Given the description of an element on the screen output the (x, y) to click on. 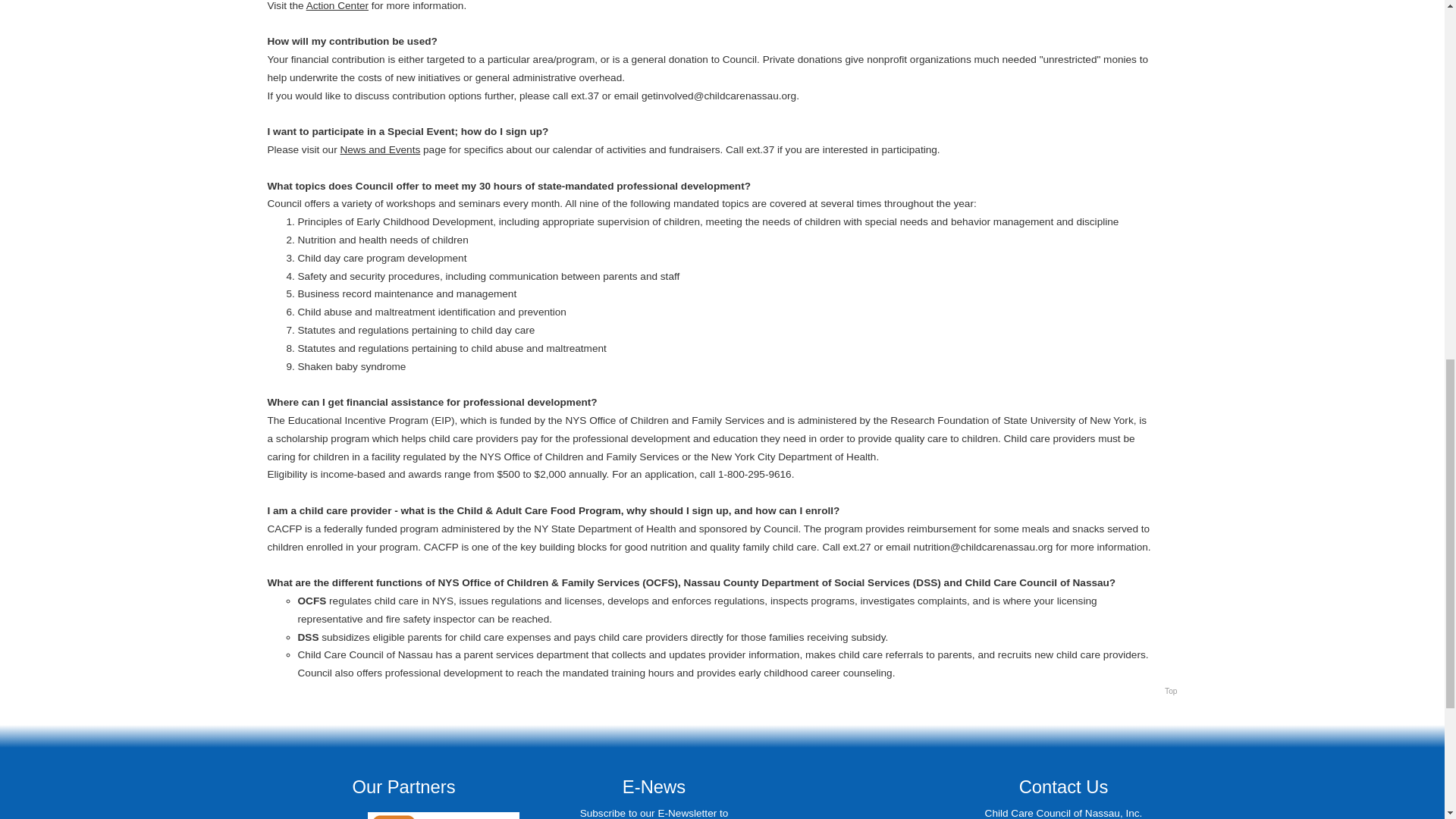
go to top of the page (1170, 691)
